Given the description of an element on the screen output the (x, y) to click on. 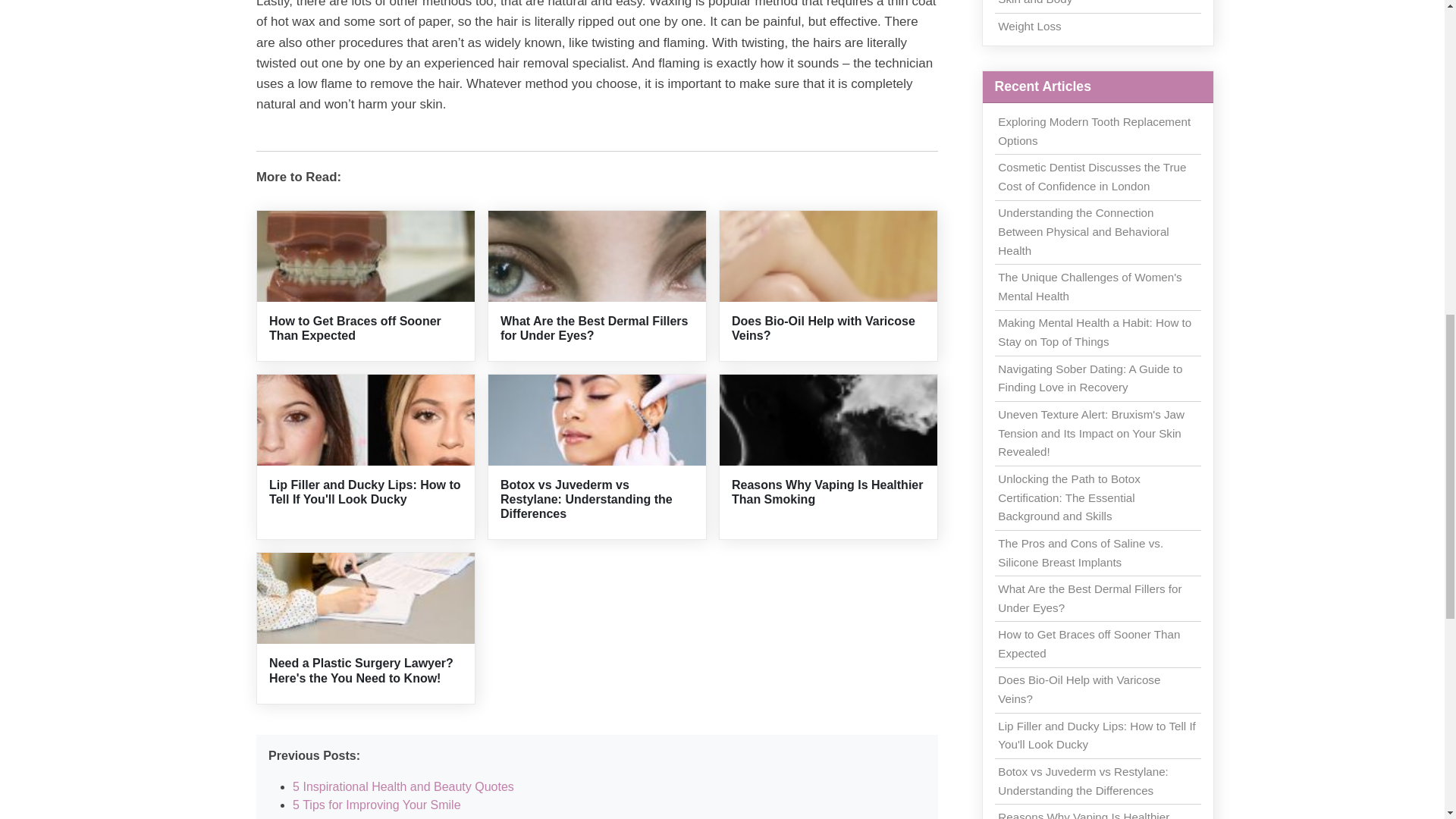
5 Tips for Improving Your Smile (376, 804)
How to Get Braces off Sooner Than Expected (355, 328)
Exploring Modern Tooth Replacement Options (1094, 131)
Skin and Body (1034, 2)
Does Bio-Oil Help with Varicose Veins? (823, 328)
Navigating Sober Dating: A Guide to Finding Love in Recovery (1089, 377)
